Given the description of an element on the screen output the (x, y) to click on. 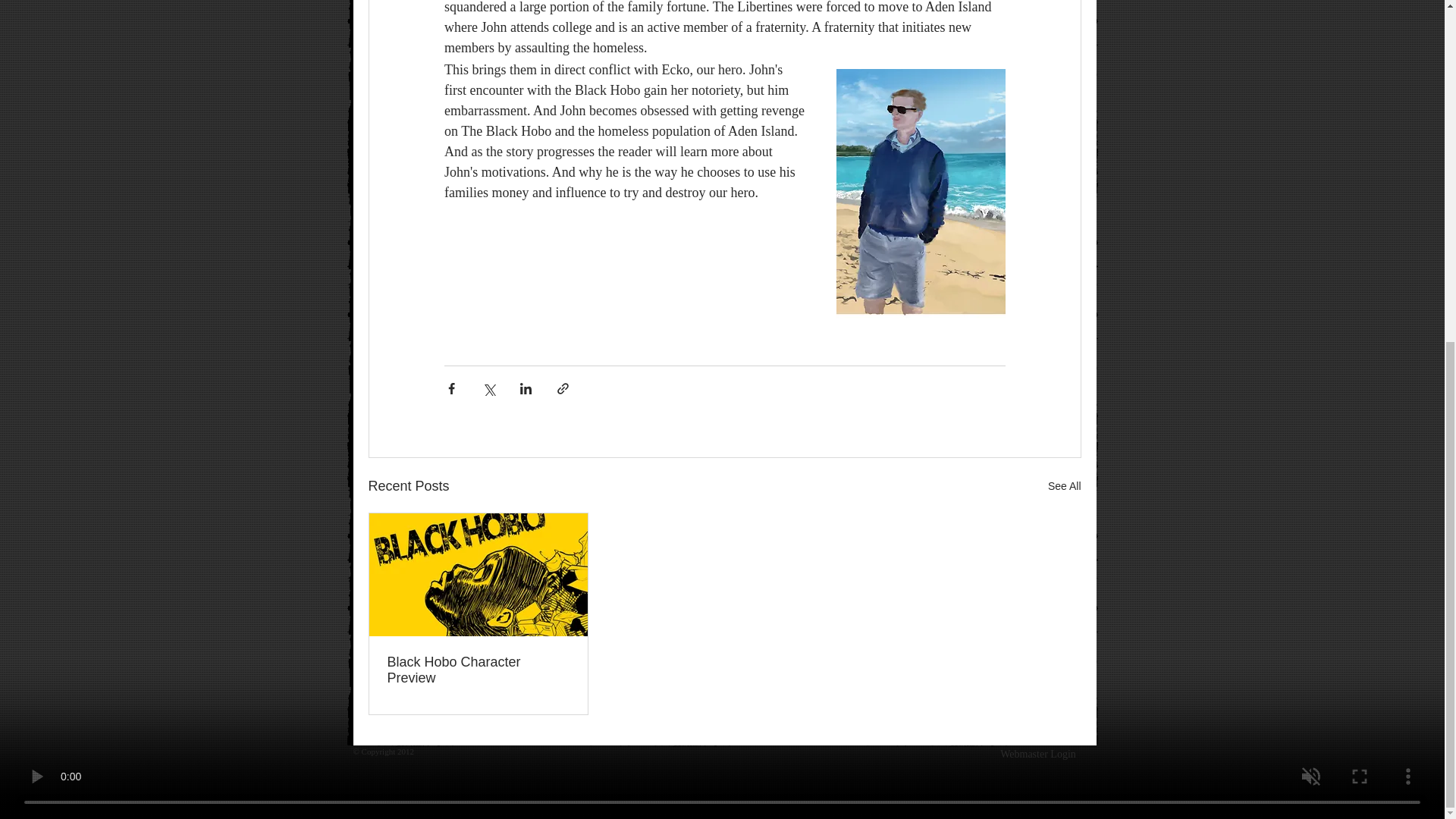
See All (1064, 486)
Webmaster Login (1037, 755)
Black Hobo Character Preview (478, 670)
